Given the description of an element on the screen output the (x, y) to click on. 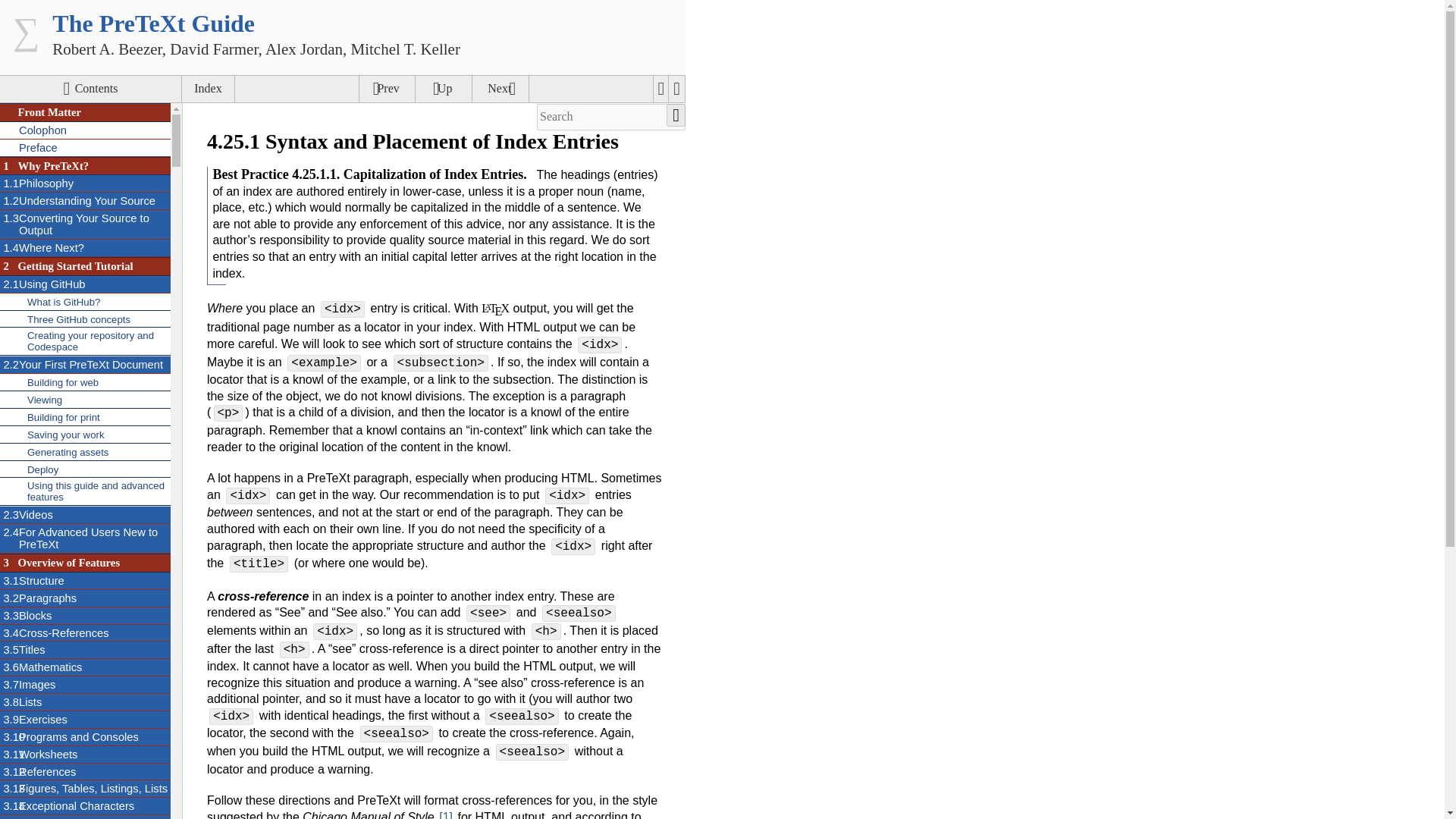
Next (500, 89)
Index (208, 89)
The PreTeXt Guide (153, 22)
Front Matter (85, 112)
Colophon (85, 130)
Previous (85, 284)
Up (386, 89)
Viewing (442, 89)
Index (85, 399)
Three GitHub concepts (85, 248)
Profile (85, 266)
